Given the description of an element on the screen output the (x, y) to click on. 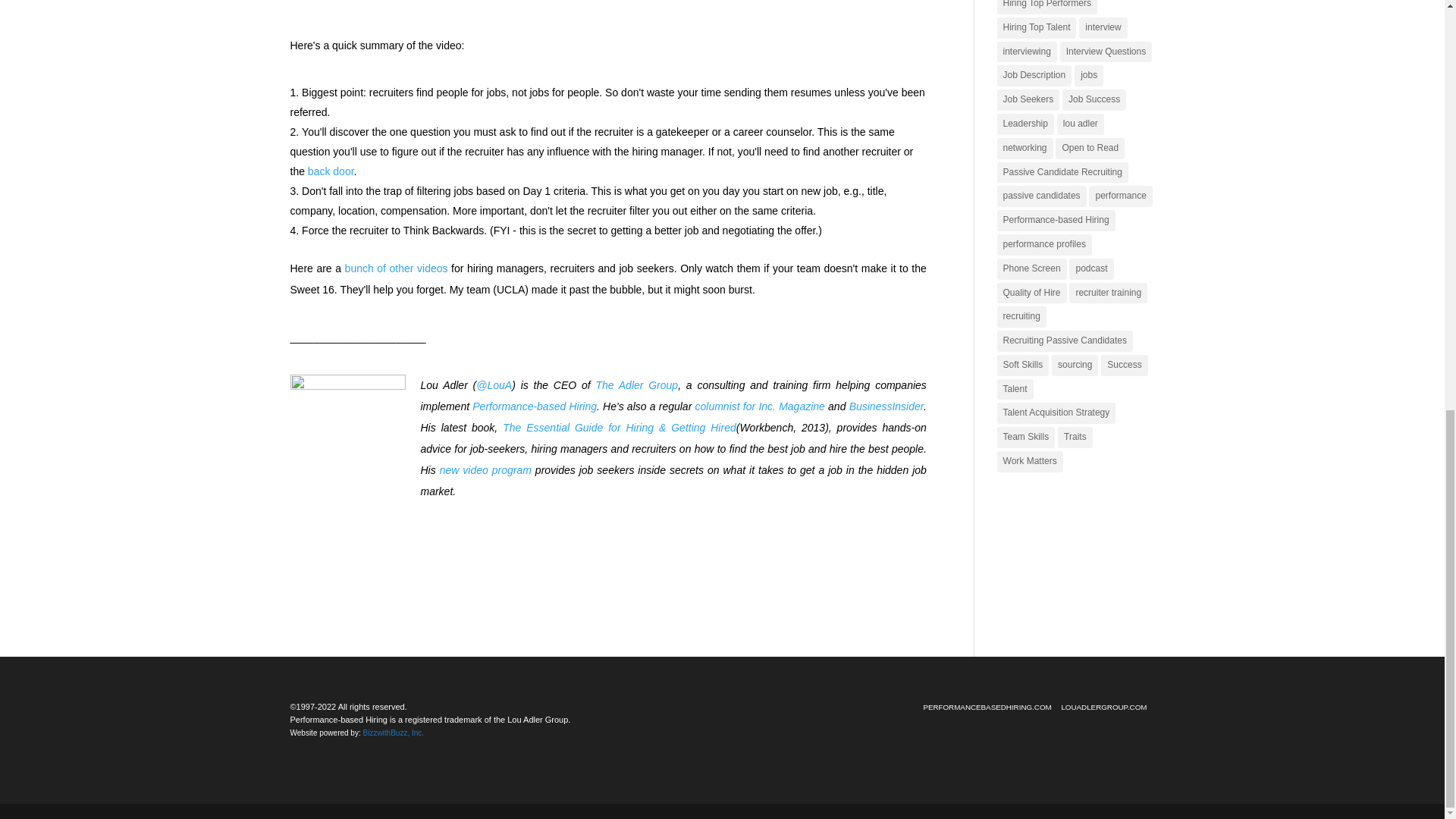
Performance-based Hiring (533, 406)
The Adler Group (636, 385)
columnist for Inc. Magazine (760, 406)
new video program (485, 469)
BusinessInsider (885, 406)
back door (330, 171)
BizzwithBuzz, Inc. (392, 732)
bunch of other videos (396, 268)
